Given the description of an element on the screen output the (x, y) to click on. 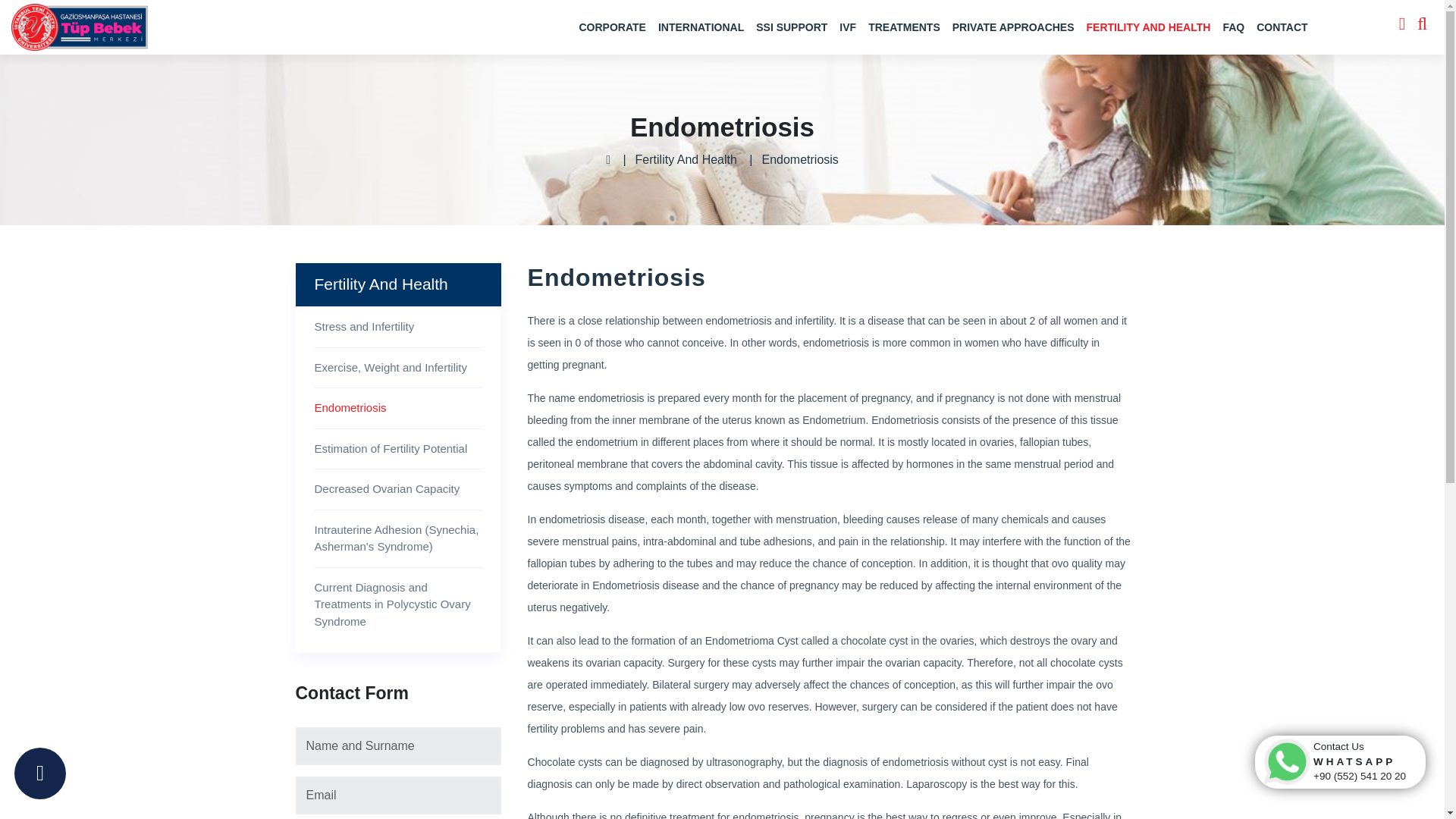
SSI SUPPORT (790, 27)
TREATMENTS (903, 27)
CORPORATE (612, 27)
INTERNATIONAL (700, 27)
PRIVATE APPROACHES (1013, 27)
